Given the description of an element on the screen output the (x, y) to click on. 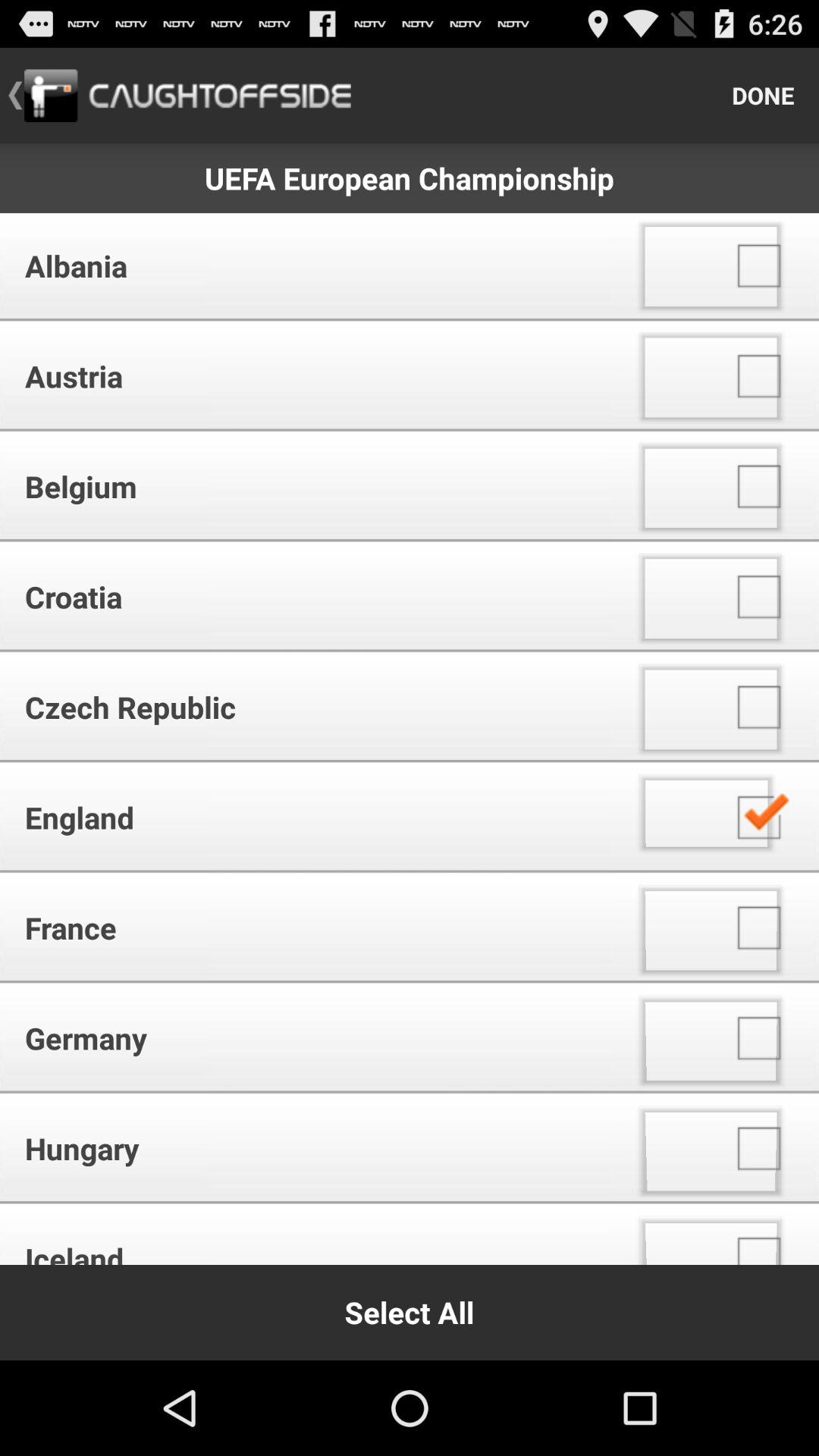
scroll until the france app (311, 927)
